Given the description of an element on the screen output the (x, y) to click on. 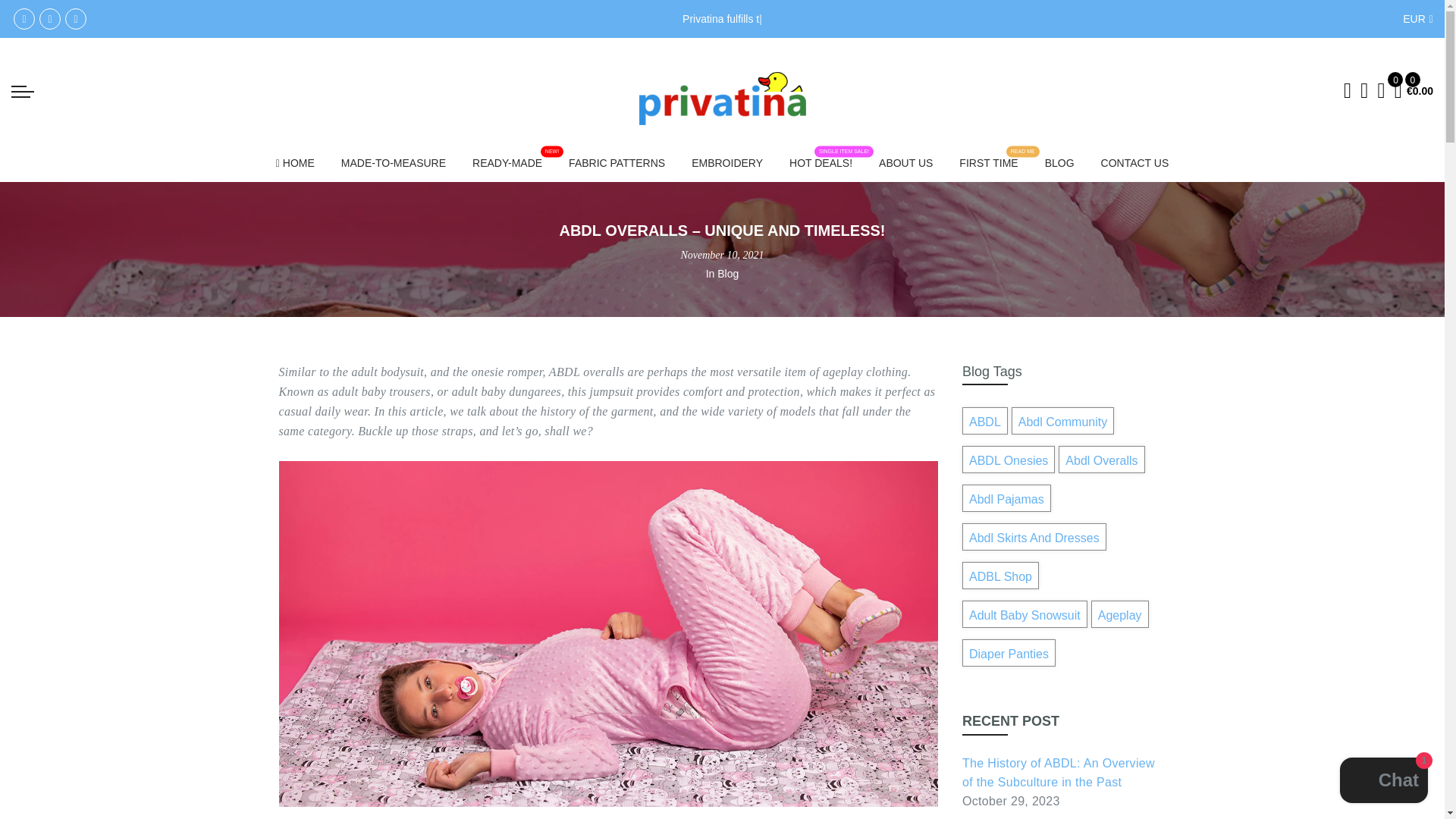
View your shopping cart (1398, 90)
Shopify online store chat (1383, 781)
